Given the description of an element on the screen output the (x, y) to click on. 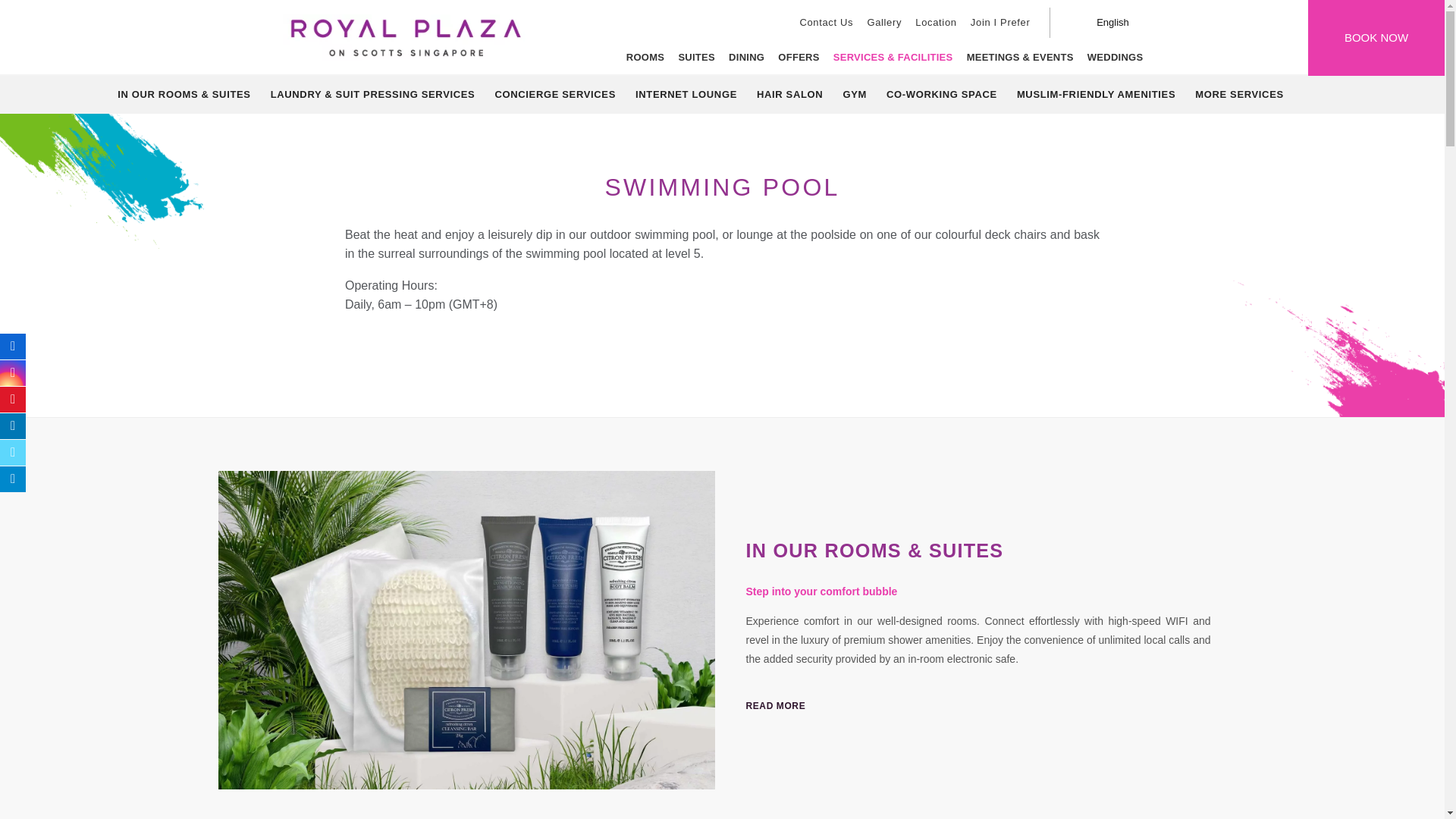
GYM (854, 94)
Contact Us (826, 22)
CONCIERGE SERVICES (555, 94)
DINING (746, 57)
CO-WORKING SPACE (941, 94)
ROOMS (645, 57)
Gallery (884, 22)
MUSLIM-FRIENDLY AMENITIES (1096, 94)
OFFERS (798, 57)
English (1112, 22)
MORE SERVICES (1239, 94)
HAIR SALON (789, 94)
Join I Prefer (999, 22)
Location (935, 22)
INTERNET LOUNGE (686, 94)
